Given the description of an element on the screen output the (x, y) to click on. 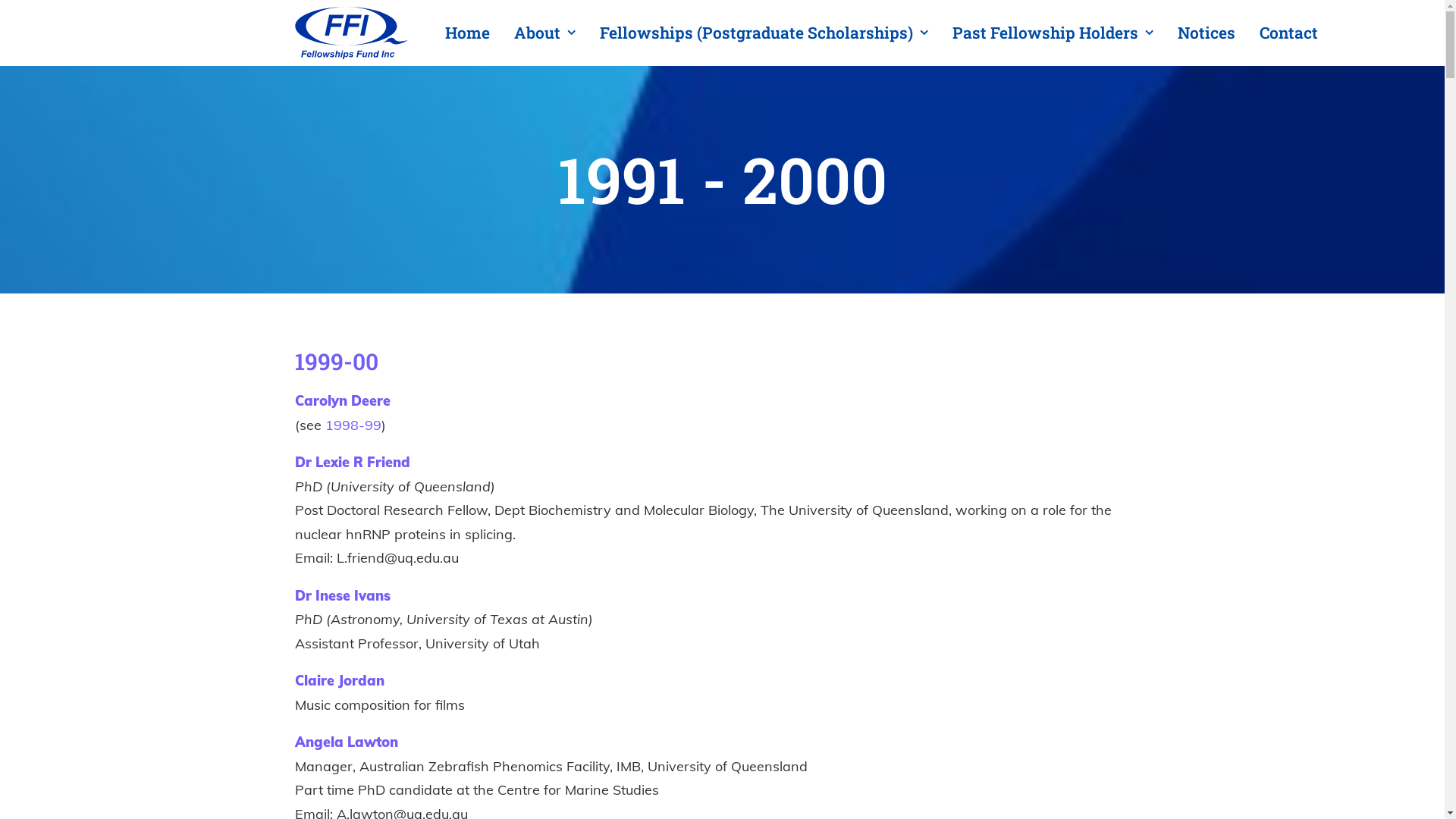
Fellowships (Postgraduate Scholarships) Element type: text (763, 32)
Home Element type: text (471, 32)
Contact Element type: text (1282, 32)
1998-99 Element type: text (352, 424)
Past Fellowship Holders Element type: text (1052, 32)
About Element type: text (544, 32)
Notices Element type: text (1205, 32)
